Given the description of an element on the screen output the (x, y) to click on. 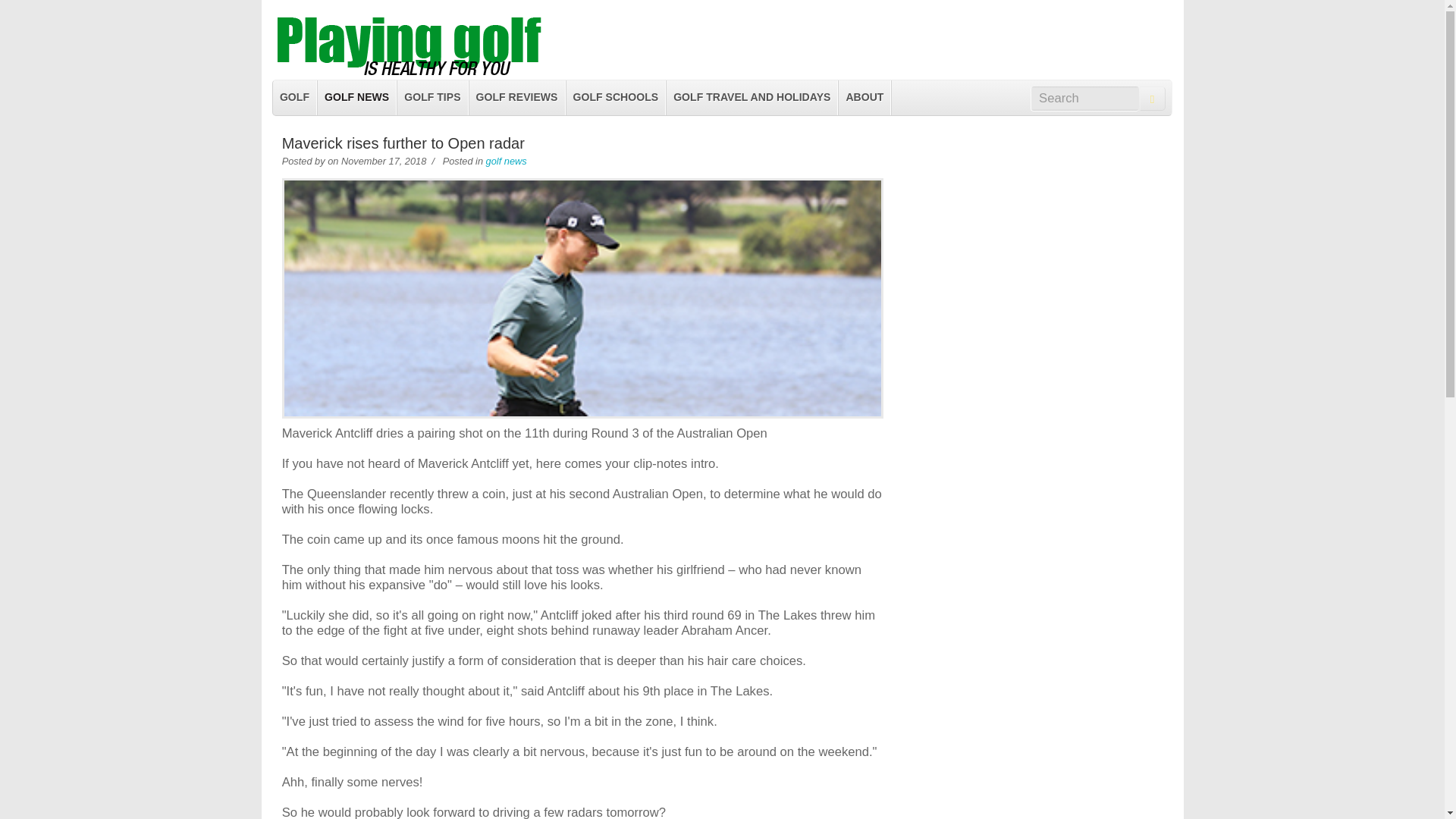
GOLF NEWS (356, 97)
GOLF SCHOOLS (615, 97)
Golf News and Tips (409, 71)
Search (1084, 98)
Maverick rises further to Open radar (403, 143)
GOLF TIPS (432, 97)
GOLF (295, 97)
Permalink to Maverick rises further to Open radar (403, 143)
ABOUT (864, 97)
GOLF TRAVEL AND HOLIDAYS (752, 97)
